Given the description of an element on the screen output the (x, y) to click on. 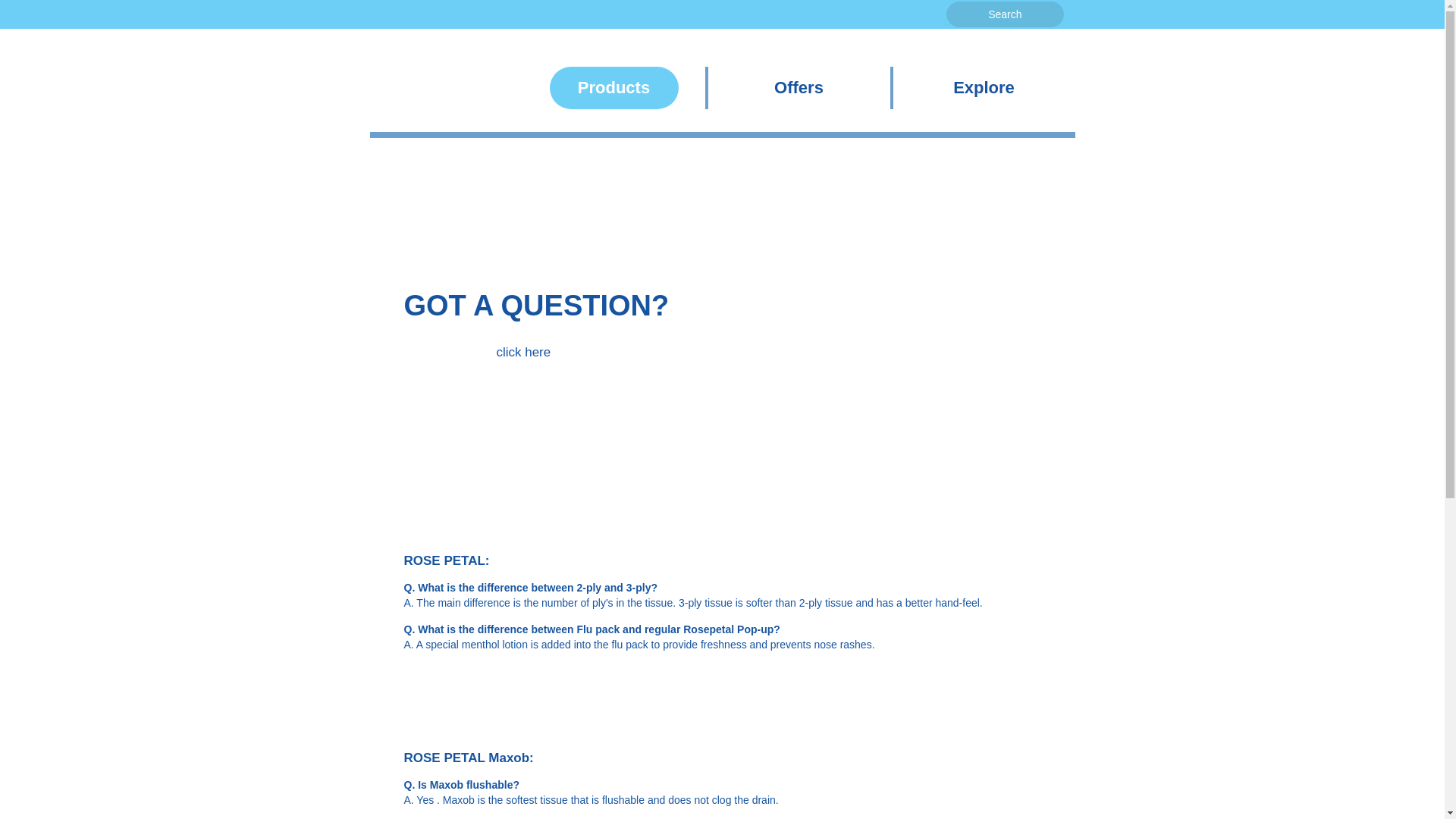
Search (1004, 14)
Products (613, 87)
Offers (798, 87)
Explore (983, 87)
click here (523, 351)
